Given the description of an element on the screen output the (x, y) to click on. 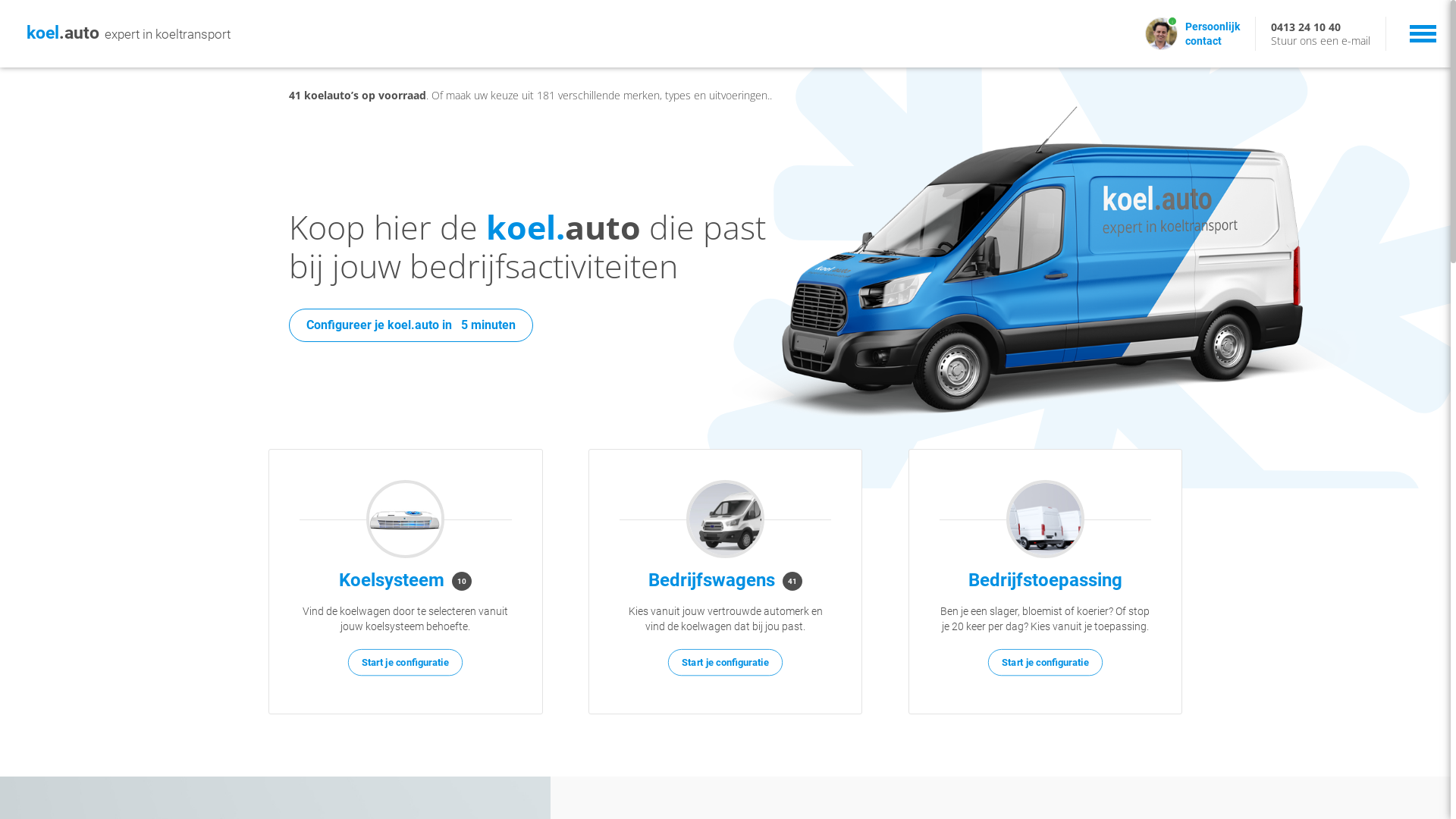
Menu Element type: text (1422, 31)
Persoonlijk
contact Element type: text (1212, 33)
Configureer je koel.auto in 5 minuten Element type: text (410, 325)
Stuur ons een e-mail Element type: text (1320, 40)
0413 24 10 40 Element type: text (1305, 26)
koel.auto Element type: text (62, 33)
